Given the description of an element on the screen output the (x, y) to click on. 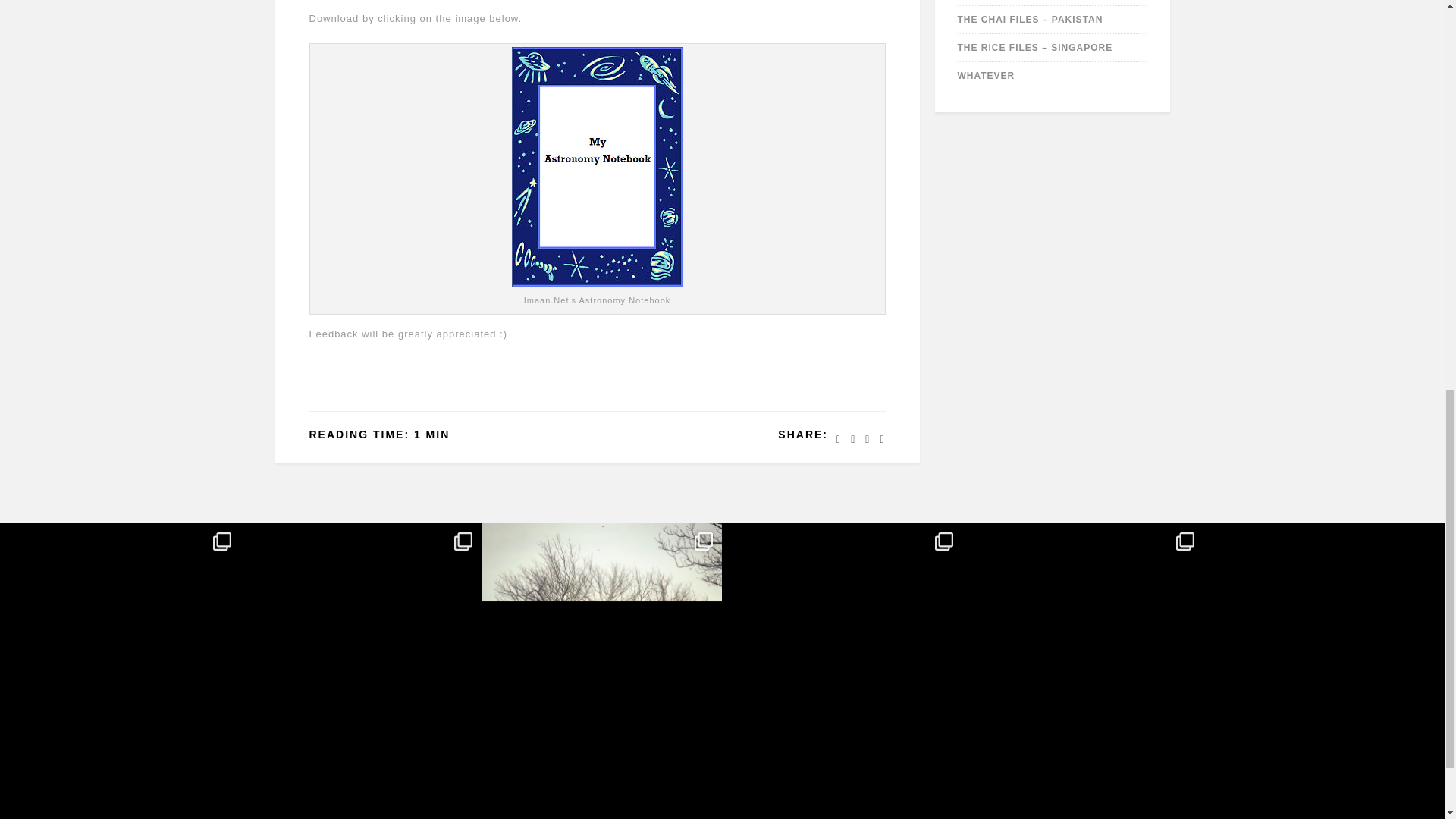
A couple of you asked me to make a post of my stor (842, 643)
Journalists say this time it is different. Rushdi (360, 643)
Where I was born and bred... (1034, 47)
Whatever doesn't fit anywhere else (985, 75)
WHATEVER (985, 75)
Yesterday, I had a sobering chat with my friend wh (120, 643)
